Given the description of an element on the screen output the (x, y) to click on. 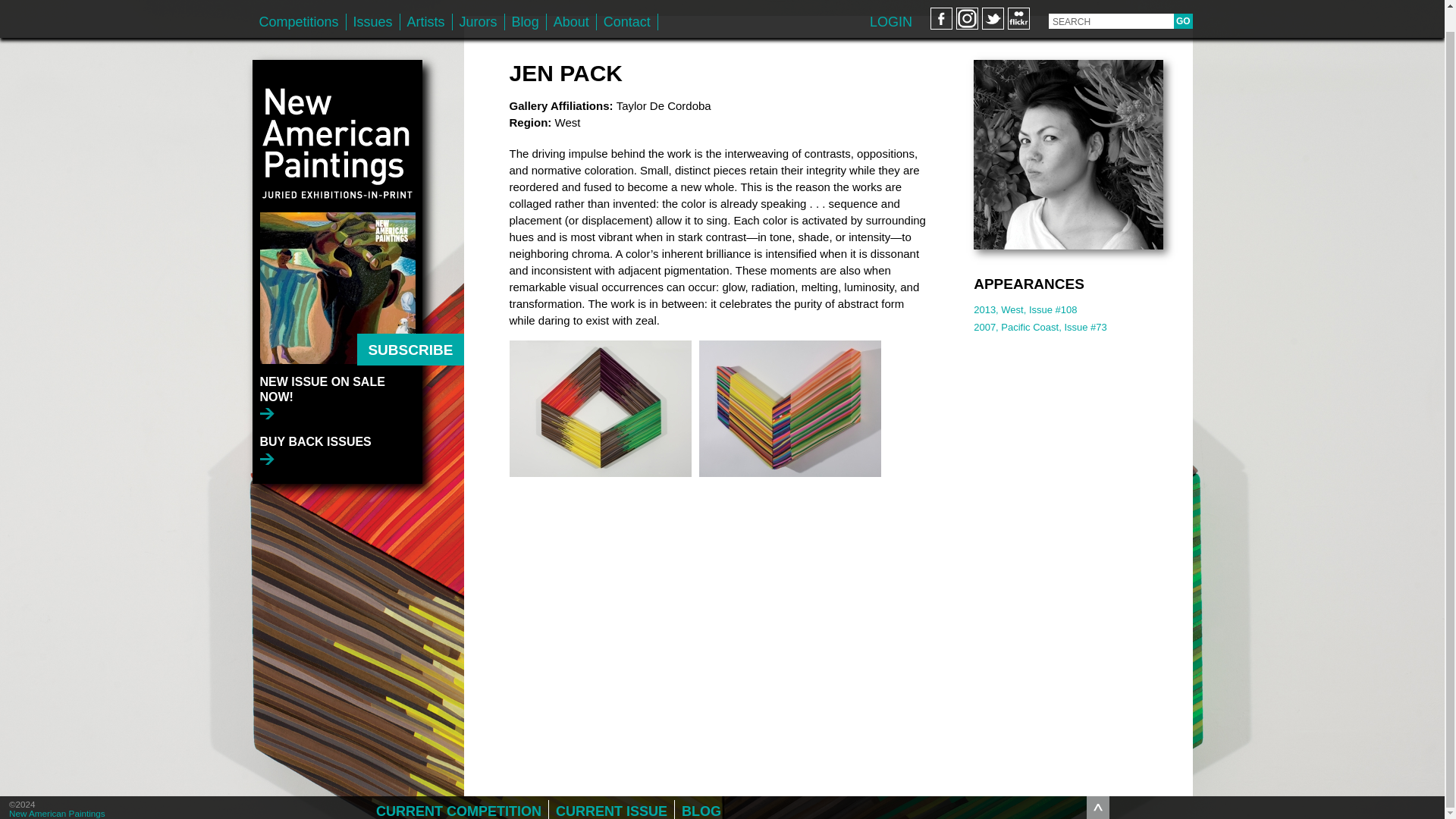
Competitions (298, 4)
Buy back issues (315, 427)
toggle (1097, 784)
Blog (525, 4)
SUBSCRIBE (409, 327)
LOGIN (890, 3)
Contact (627, 4)
Artists (425, 4)
Login (890, 3)
Jurors (477, 4)
About (571, 4)
About (571, 4)
Enter the terms you wish to search for. (1110, 3)
CURRENT COMPETITION (458, 789)
Jurors (477, 4)
